Given the description of an element on the screen output the (x, y) to click on. 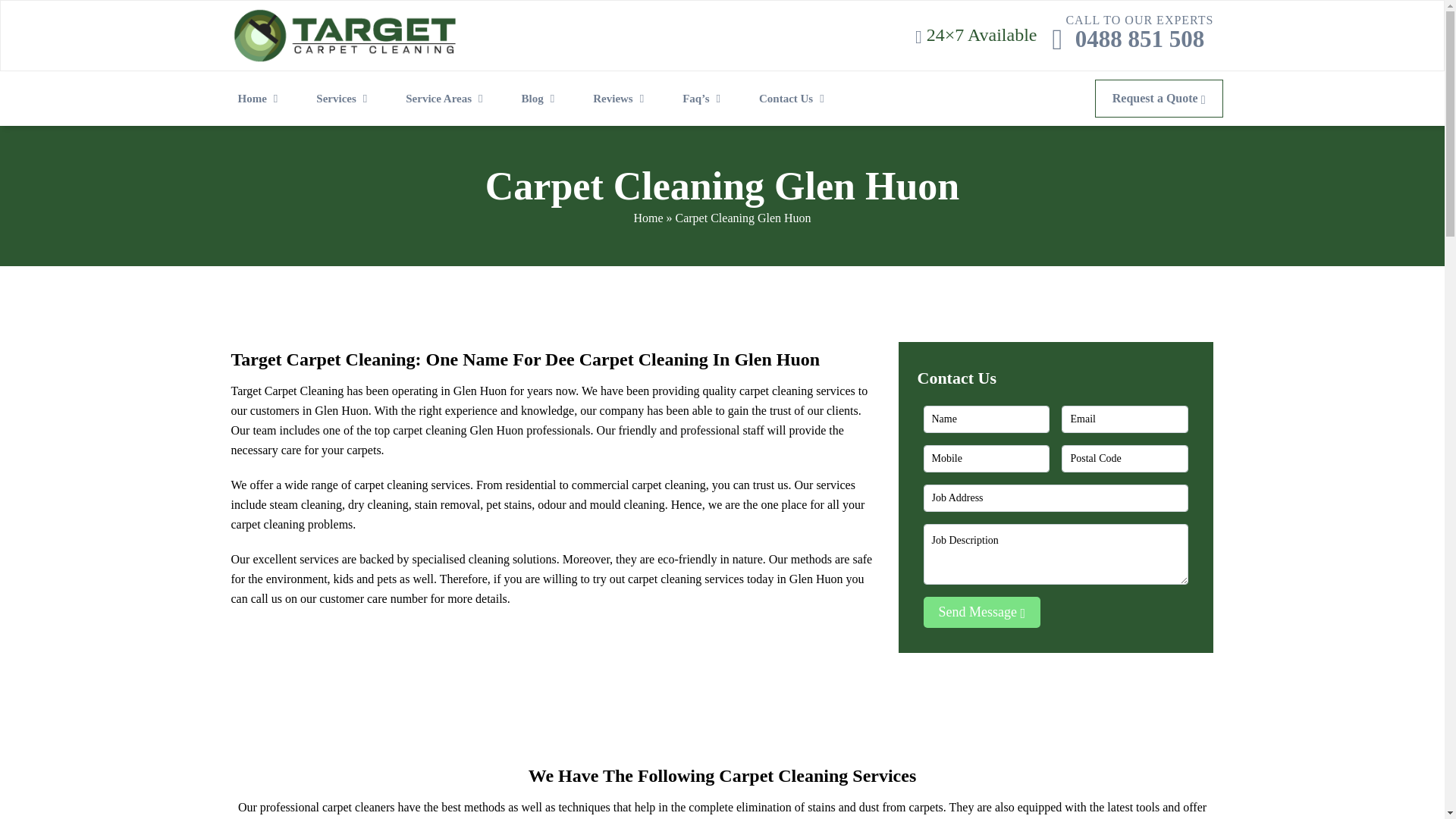
Blog (541, 98)
Service Areas (446, 98)
Contact Us (794, 98)
Request a Quote (1138, 39)
Send Message (1158, 98)
Reviews (982, 612)
Home (621, 98)
Home (647, 217)
Services (260, 98)
